Given the description of an element on the screen output the (x, y) to click on. 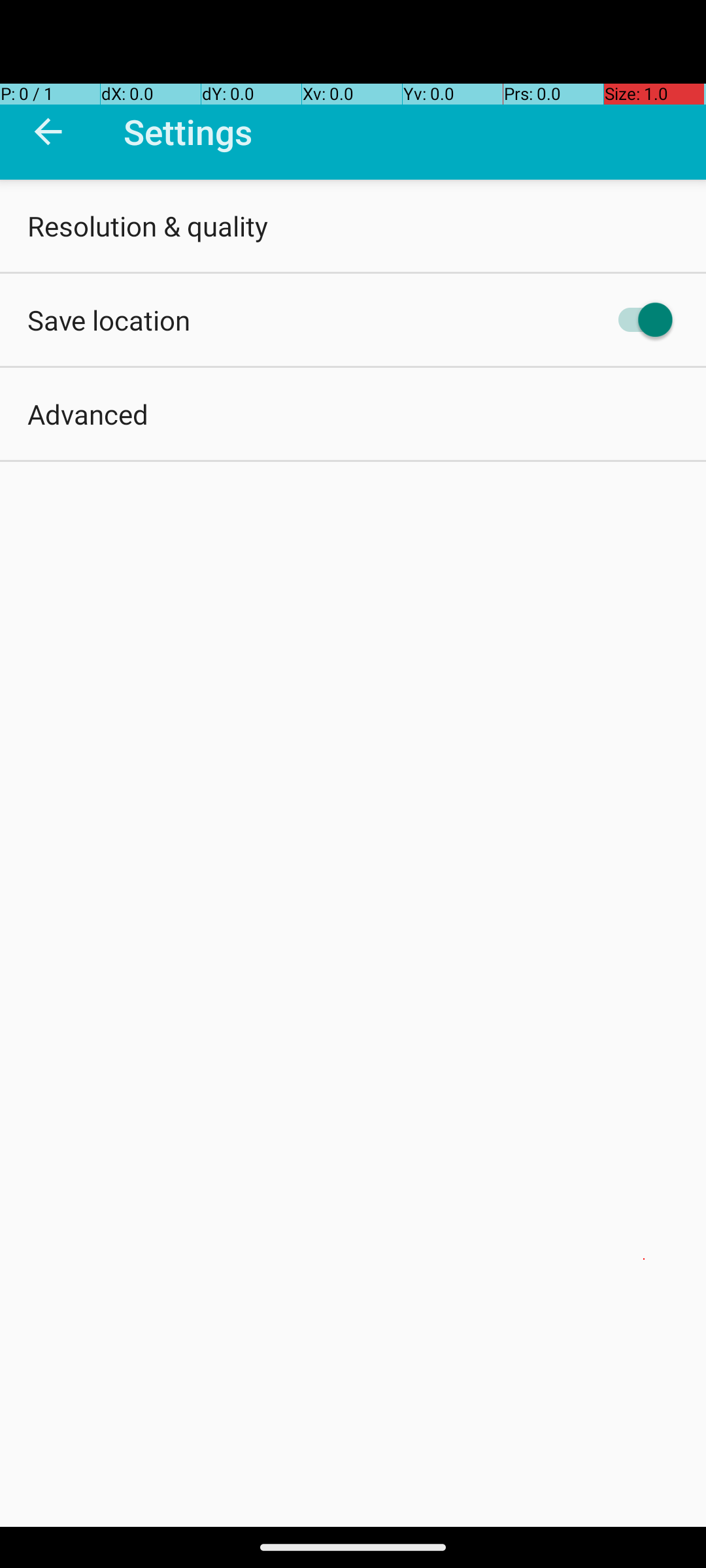
Resolution & quality Element type: android.widget.TextView (147, 225)
Save location Element type: android.widget.TextView (108, 319)
Advanced Element type: android.widget.TextView (87, 413)
